Given the description of an element on the screen output the (x, y) to click on. 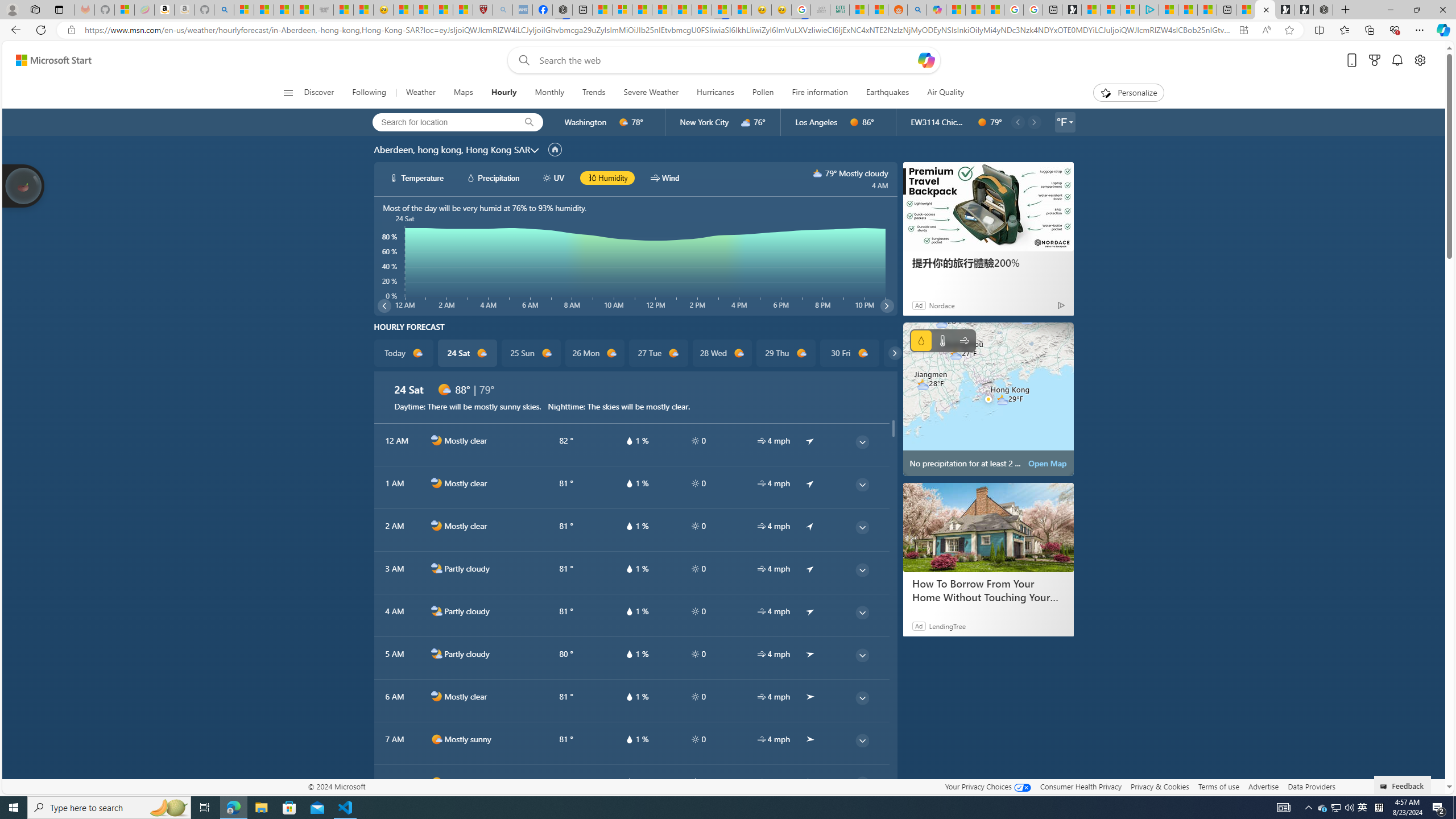
31 Sat d1000 (913, 352)
Hurricanes (715, 92)
These 3 Stocks Pay You More Than 5% to Own Them (1206, 9)
Air Quality (945, 92)
common/carouselChevron (895, 353)
Monthly (549, 92)
